Given the description of an element on the screen output the (x, y) to click on. 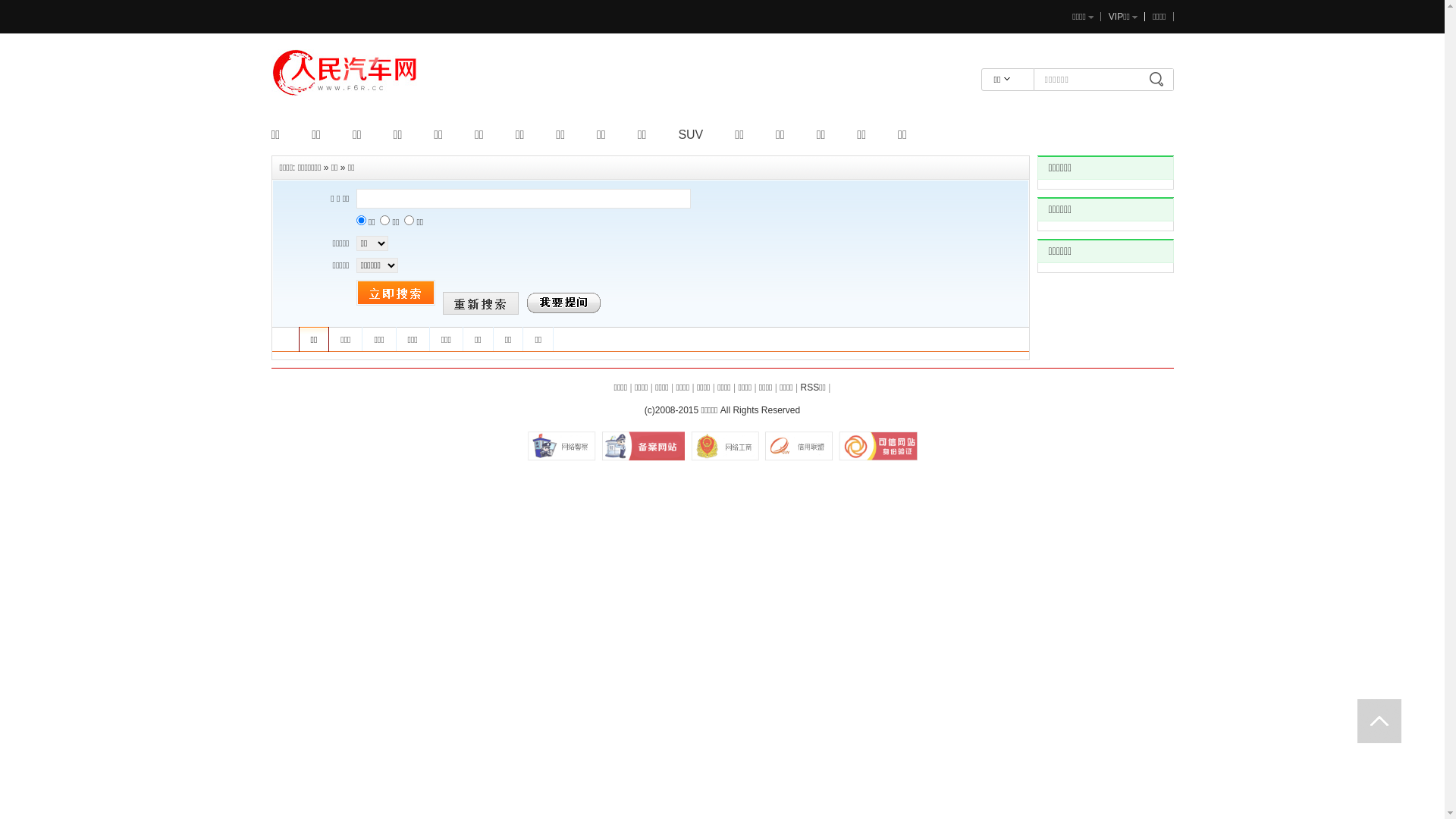
SUV Element type: text (689, 134)
  Element type: text (1379, 721)
